Given the description of an element on the screen output the (x, y) to click on. 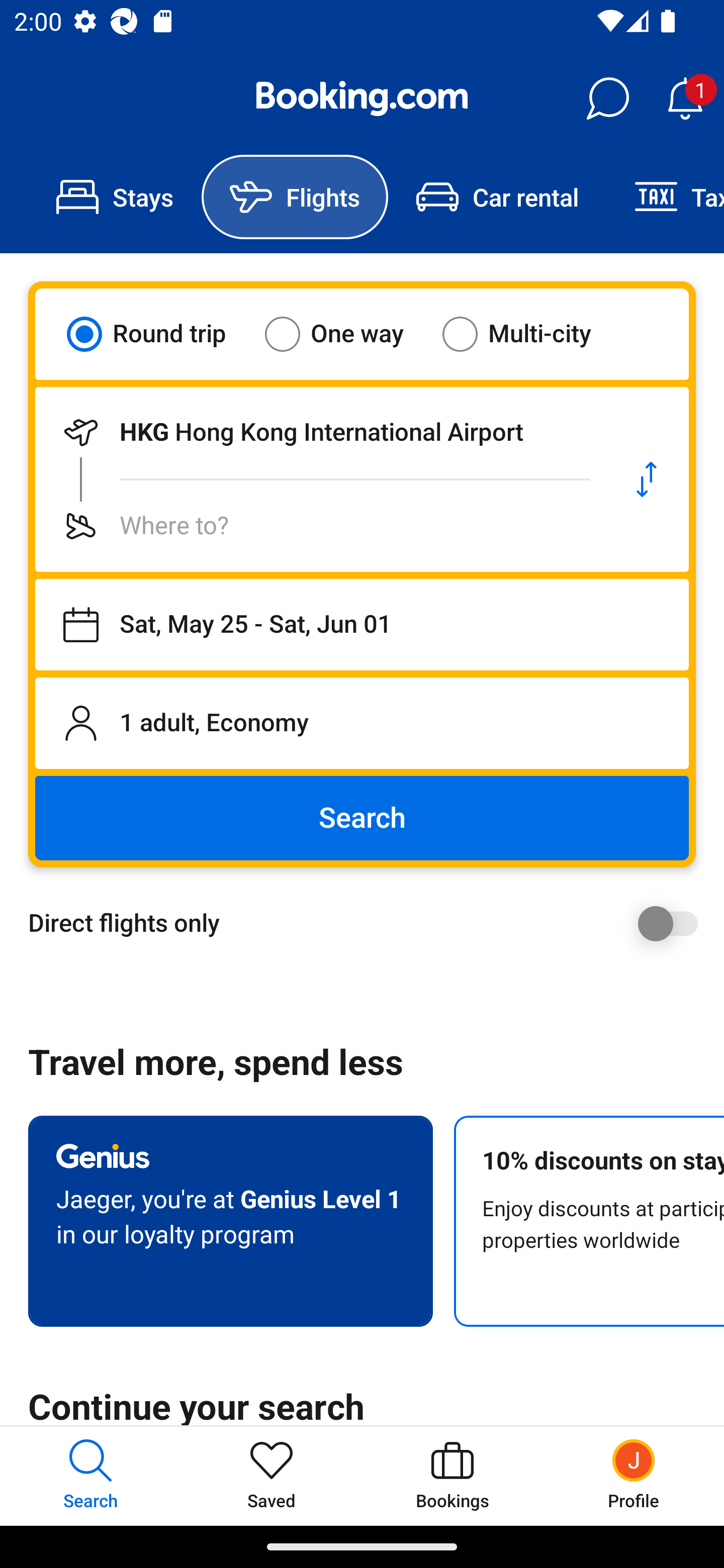
Messages (607, 98)
Notifications (685, 98)
Stays (114, 197)
Flights (294, 197)
Car rental (497, 197)
Taxi (665, 197)
One way (346, 333)
Multi-city (528, 333)
Departing from HKG Hong Kong International Airport (319, 432)
Swap departure location and destination (646, 479)
Flying to  (319, 525)
Departing on Sat, May 25, returning on Sat, Jun 01 (361, 624)
1 adult, Economy (361, 722)
Search (361, 818)
Direct flights only (369, 923)
Saved (271, 1475)
Bookings (452, 1475)
Profile (633, 1475)
